Given the description of an element on the screen output the (x, y) to click on. 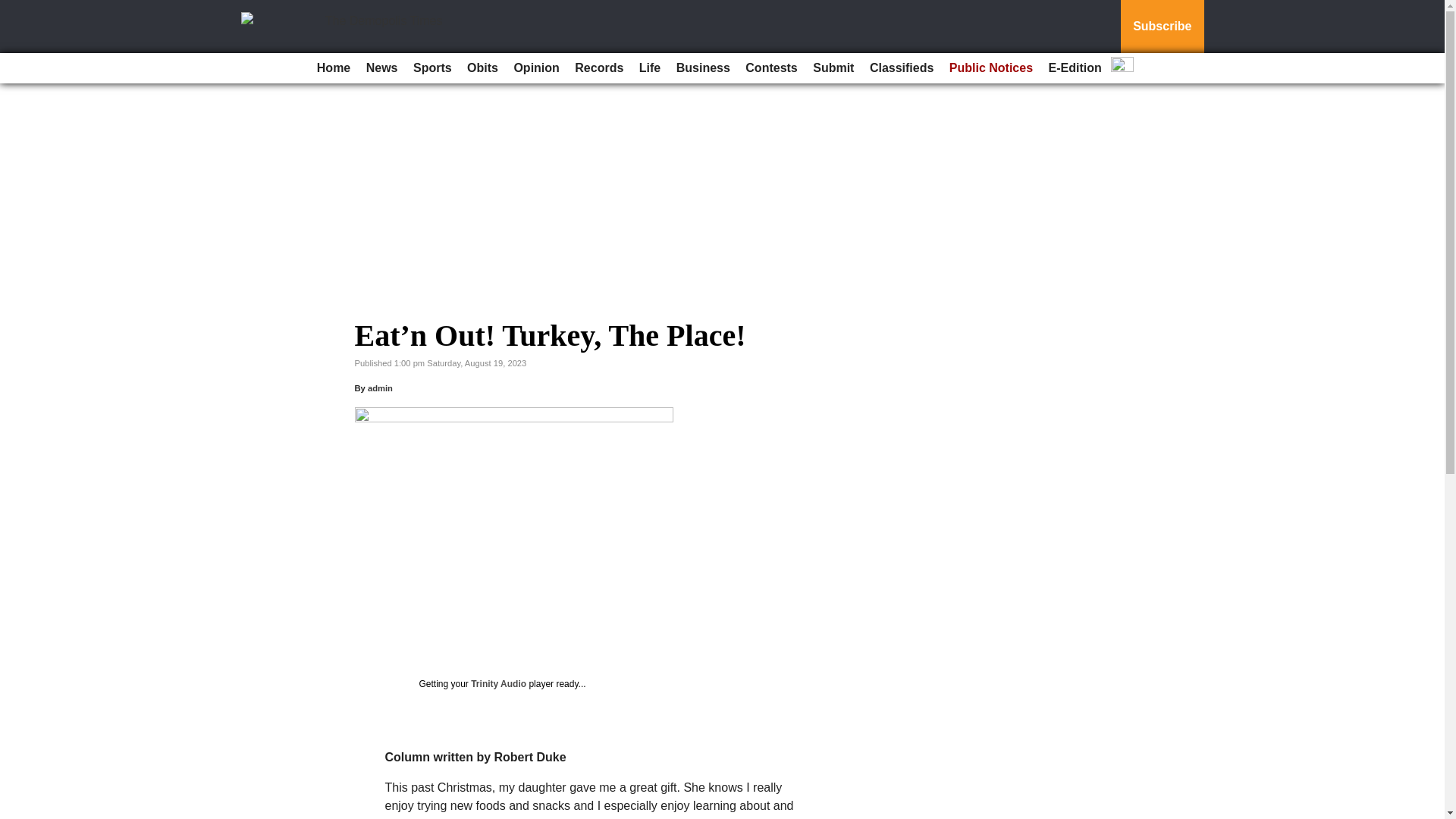
Classifieds (901, 68)
Life (649, 68)
Submit (833, 68)
Business (702, 68)
Opinion (535, 68)
E-Edition (1075, 68)
News (381, 68)
Trinity Audio (497, 683)
Obits (482, 68)
Public Notices (991, 68)
